Given the description of an element on the screen output the (x, y) to click on. 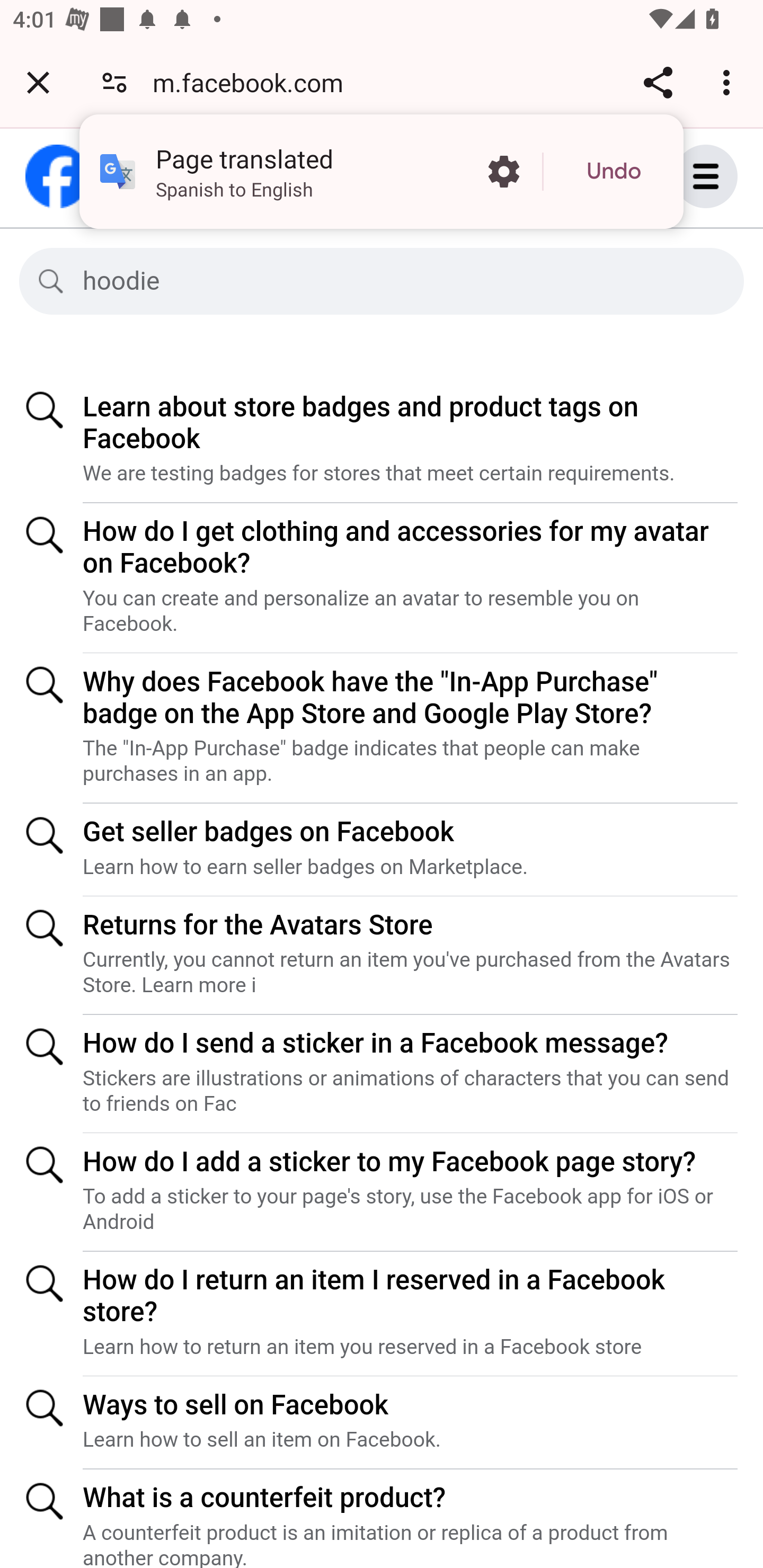
Close tab (38, 82)
Share (657, 82)
Customize and control Google Chrome (729, 82)
Connection is secure (114, 81)
m.facebook.com (254, 81)
Undo (613, 171)
More options in the Page translated (503, 171)
Help Desk Menu (724, 176)
hoodie (397, 281)
